Given the description of an element on the screen output the (x, y) to click on. 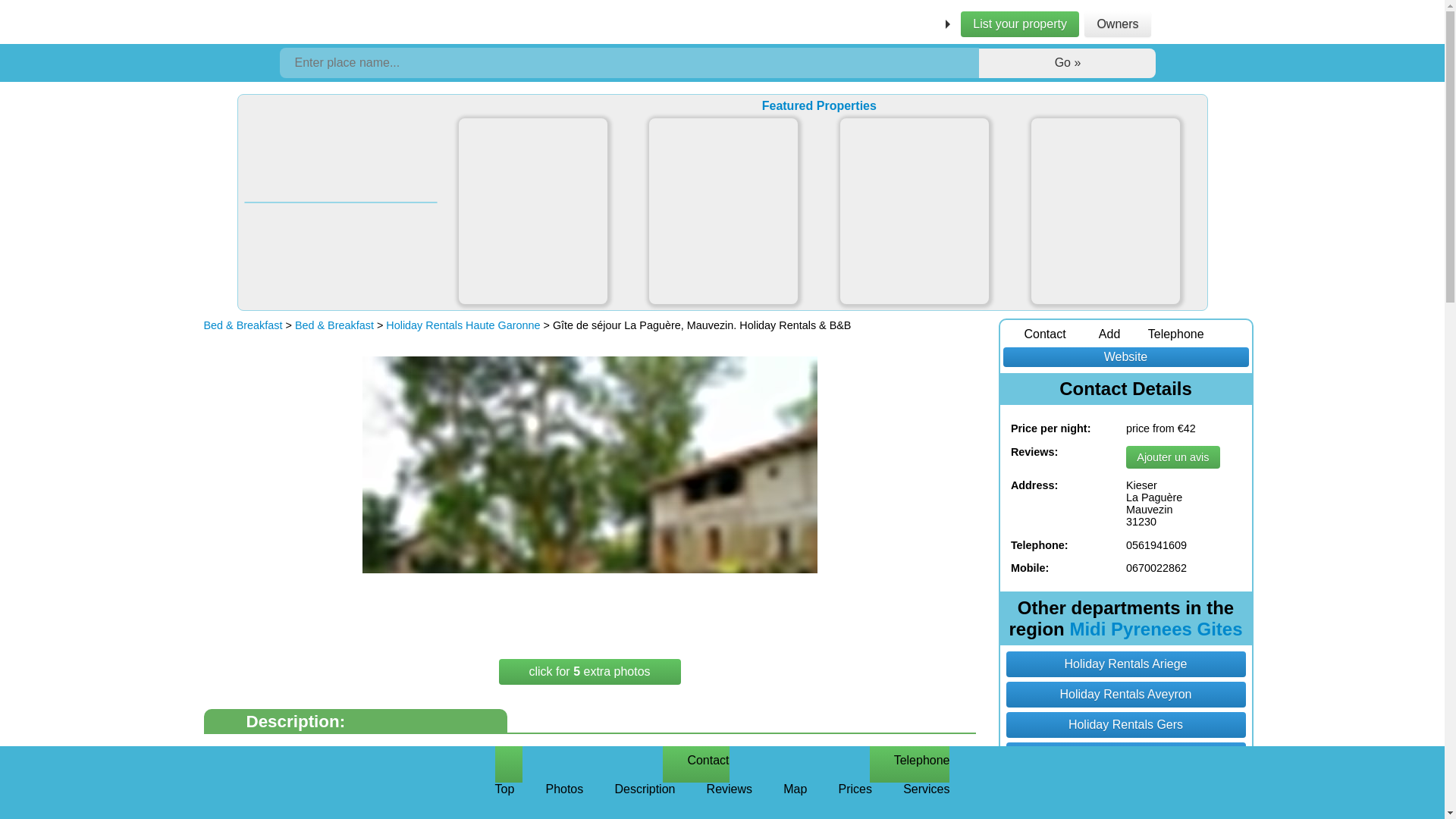
List your property (1019, 23)
Contact (1031, 333)
Owners (1117, 23)
Contact (695, 764)
Holiday Rentals Haute Garonne (462, 325)
Telephone (1164, 333)
Reviews (729, 800)
Telephone (909, 764)
Add (1093, 333)
Prices (855, 800)
